Given the description of an element on the screen output the (x, y) to click on. 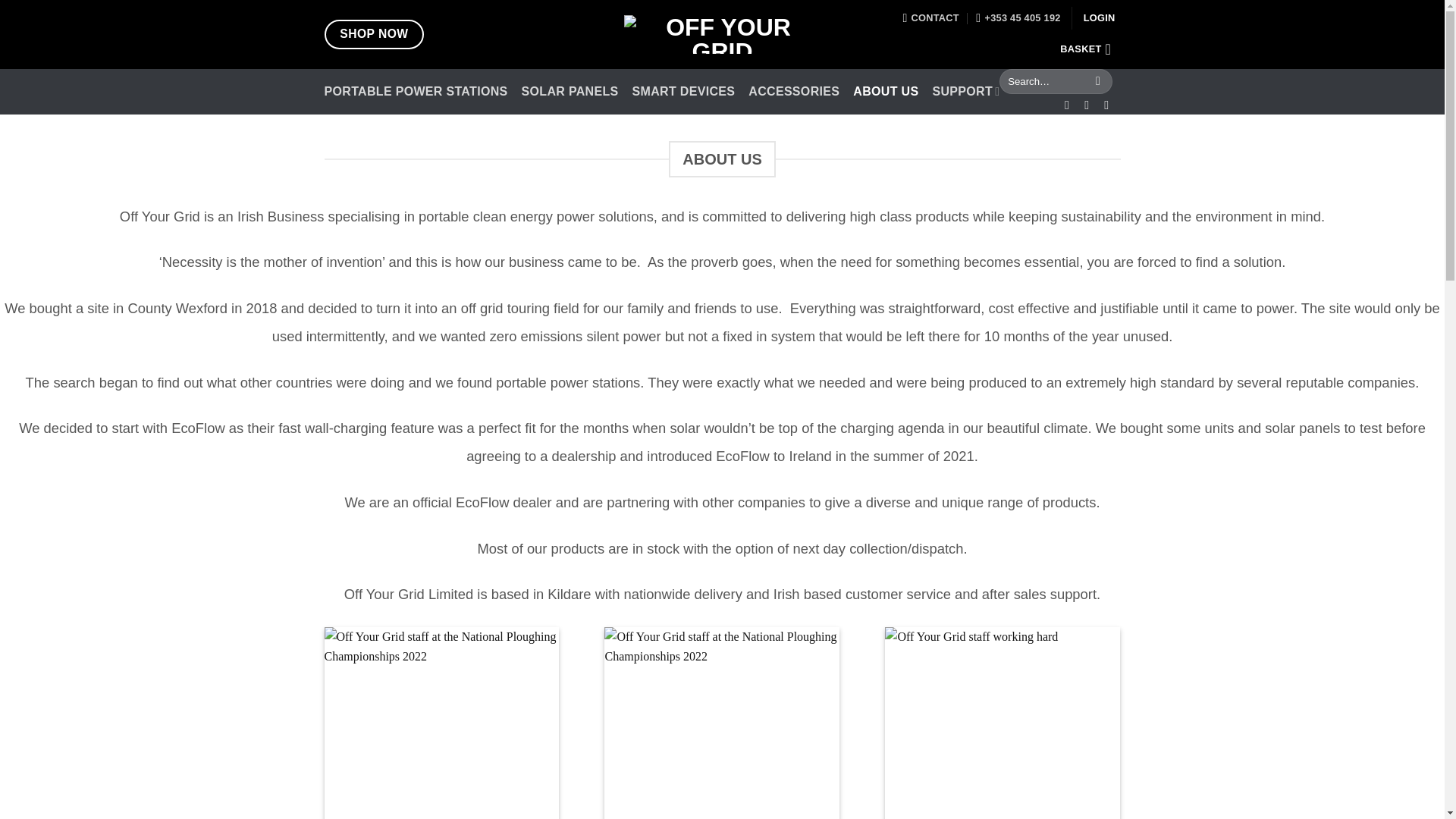
National Poughing Championships 2022 (722, 723)
Basket (1089, 49)
ABOUT US (885, 91)
SOLAR PANELS (569, 91)
SUPPORT (964, 91)
ACCESSORIES (794, 91)
Follow on YouTube (1109, 104)
Follow on Instagram (1090, 104)
BASKET (1089, 49)
Off Your Grid - Portable Power for Home and Adventure (722, 34)
